Given the description of an element on the screen output the (x, y) to click on. 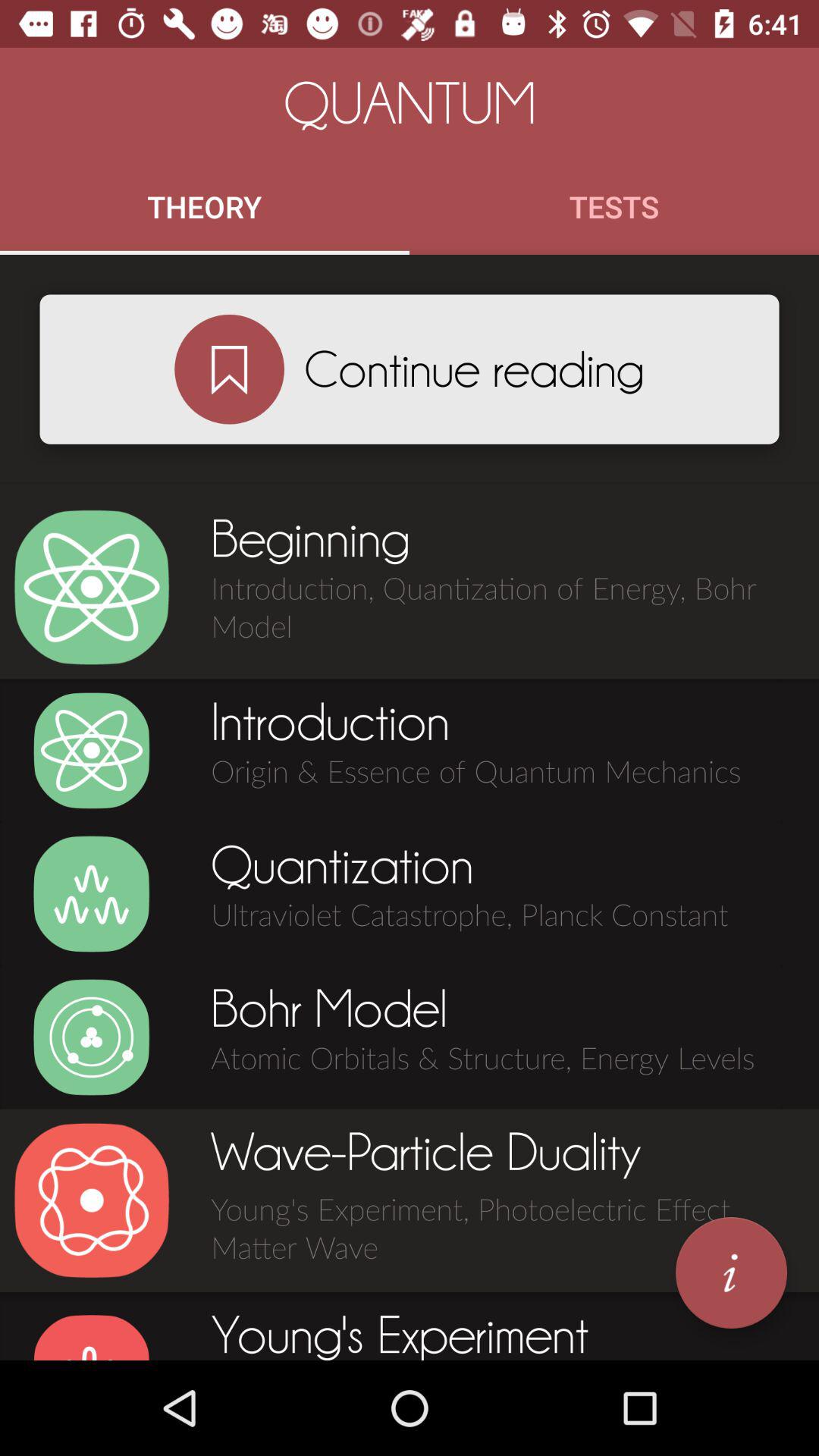
introduction shortcut (91, 750)
